Given the description of an element on the screen output the (x, y) to click on. 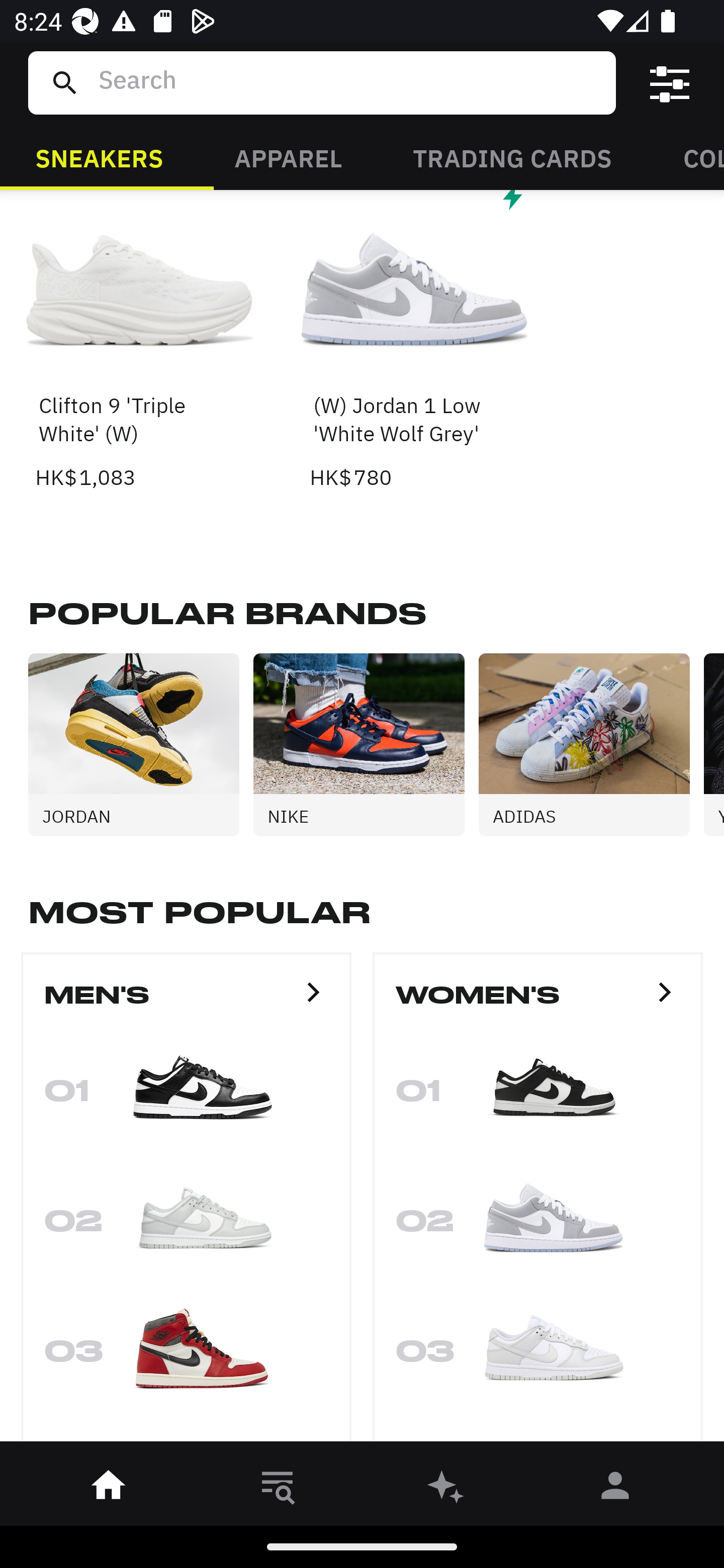
Search (349, 82)
 (669, 82)
SNEAKERS (99, 156)
APPAREL (287, 156)
TRADING CARDS (512, 156)
Clifton 9 'Triple White' (W) HK$ 1,083 (140, 341)
 (W) Jordan 1 Low 'White Wolf Grey' HK$ 780 (414, 341)
JORDAN (140, 744)
NIKE (365, 744)
ADIDAS (590, 744)
MEN'S  (186, 1003)
WOMEN'S  (538, 1003)
01 (186, 1096)
01 (538, 1096)
02 (186, 1226)
02 (538, 1226)
03 (186, 1357)
03 (538, 1357)
󰋜 (108, 1488)
󱎸 (277, 1488)
󰫢 (446, 1488)
󰀄 (615, 1488)
